Given the description of an element on the screen output the (x, y) to click on. 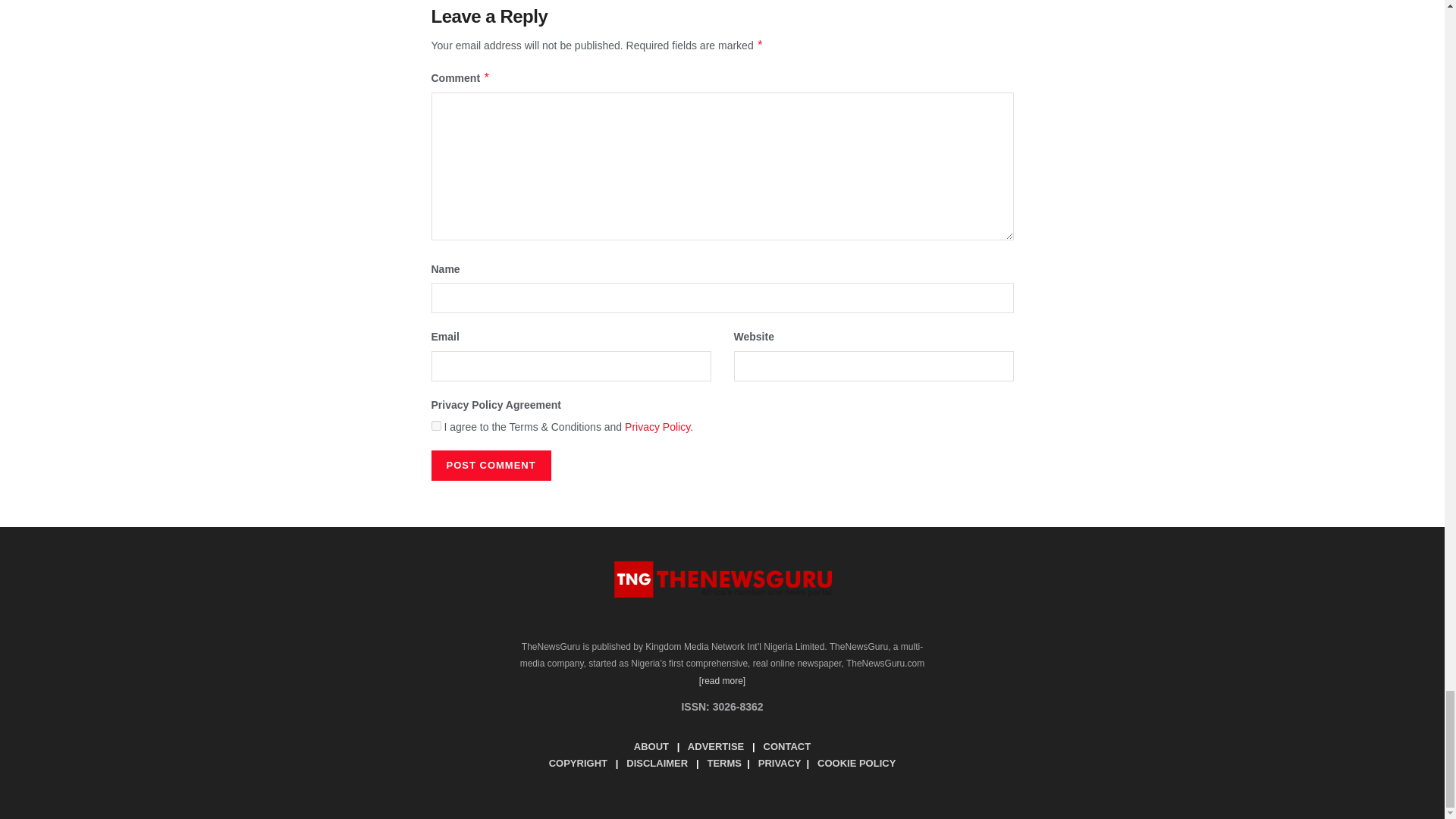
on (435, 425)
Post Comment (490, 465)
